Given the description of an element on the screen output the (x, y) to click on. 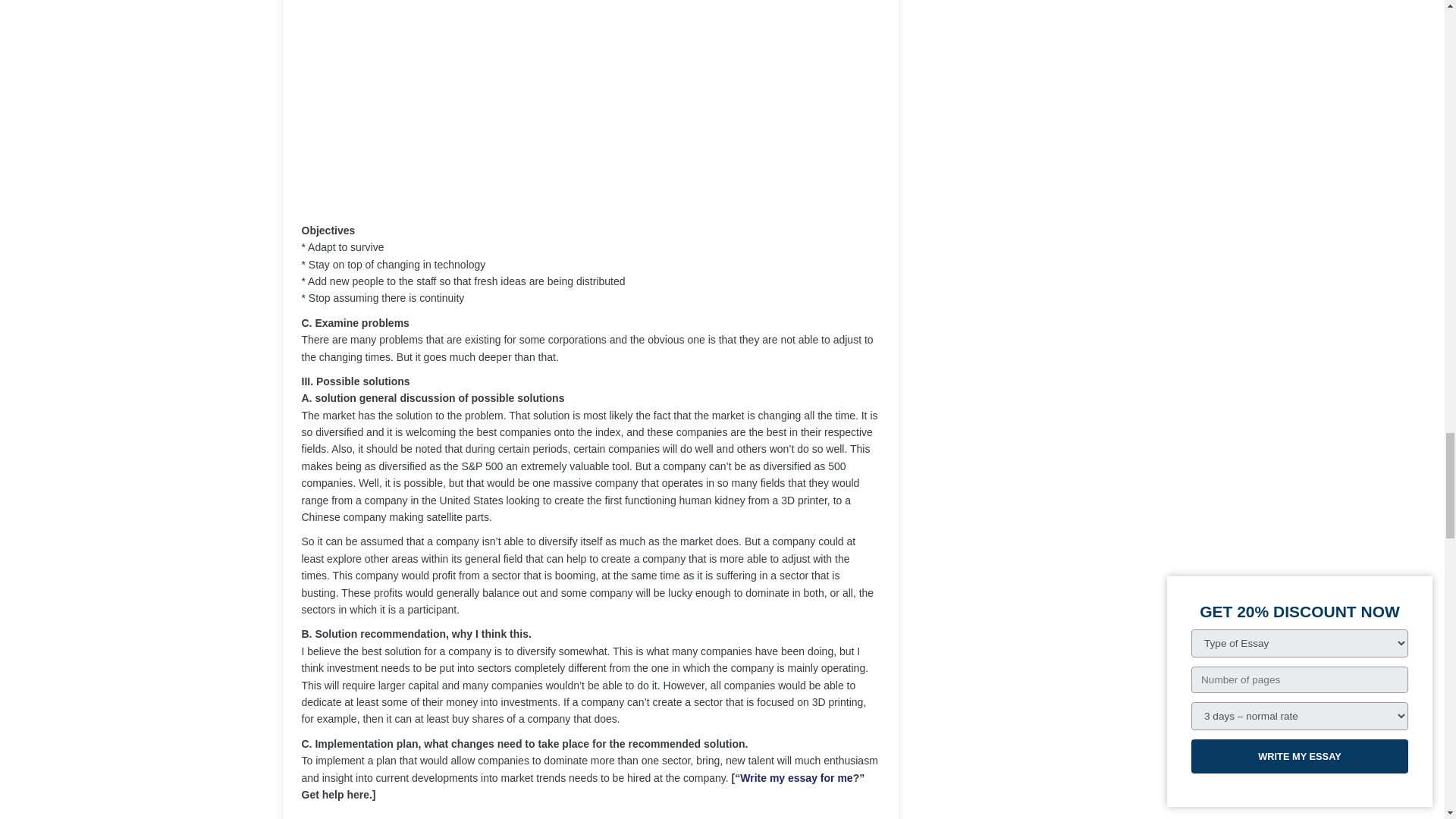
Write my essay for me (795, 777)
